Given the description of an element on the screen output the (x, y) to click on. 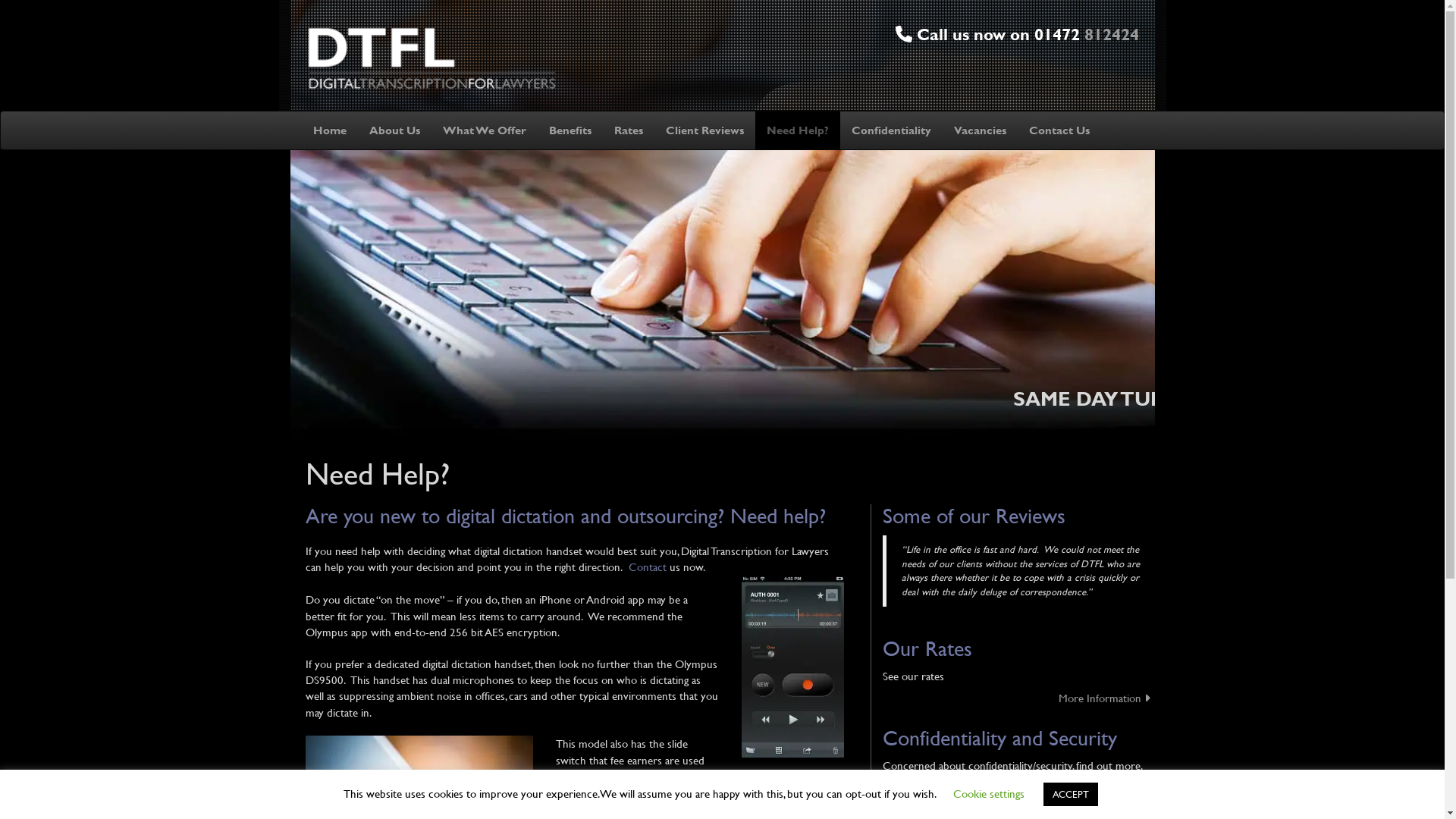
More Information (1018, 787)
ACCEPT (1070, 793)
Benefits (569, 130)
More Information (1018, 698)
Vacancies (979, 130)
Call us now on 01472 812424 (1016, 33)
Home (329, 130)
SAME DAY TURNAROUND AS STANDARD (721, 406)
About Us (394, 130)
Contact Us (1058, 130)
Client Reviews (703, 130)
Confidentiality (891, 130)
Rates (627, 130)
Cookie settings (987, 793)
Need Help? (797, 130)
